Given the description of an element on the screen output the (x, y) to click on. 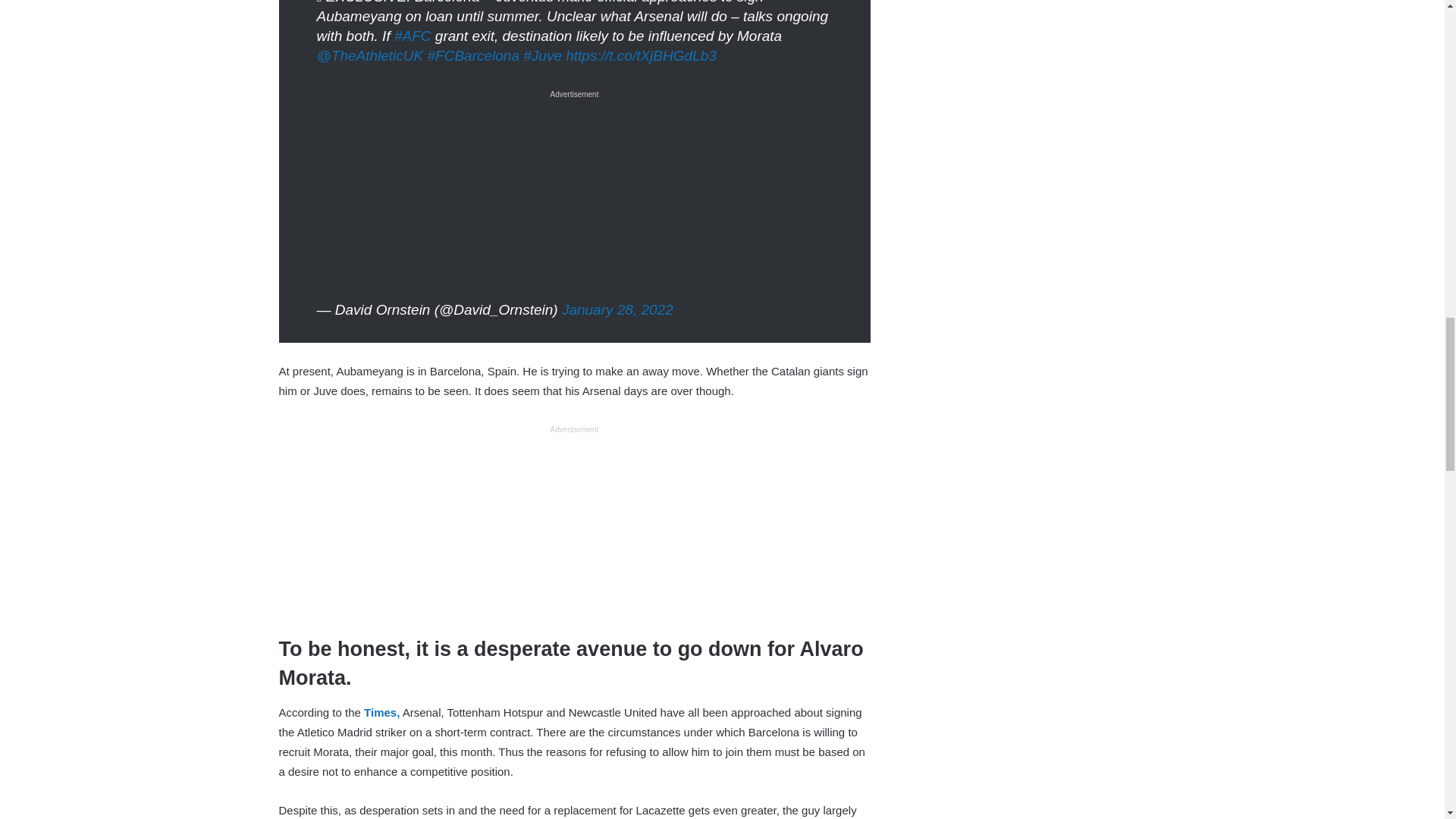
Times, (381, 712)
January 28, 2022 (617, 309)
